Given the description of an element on the screen output the (x, y) to click on. 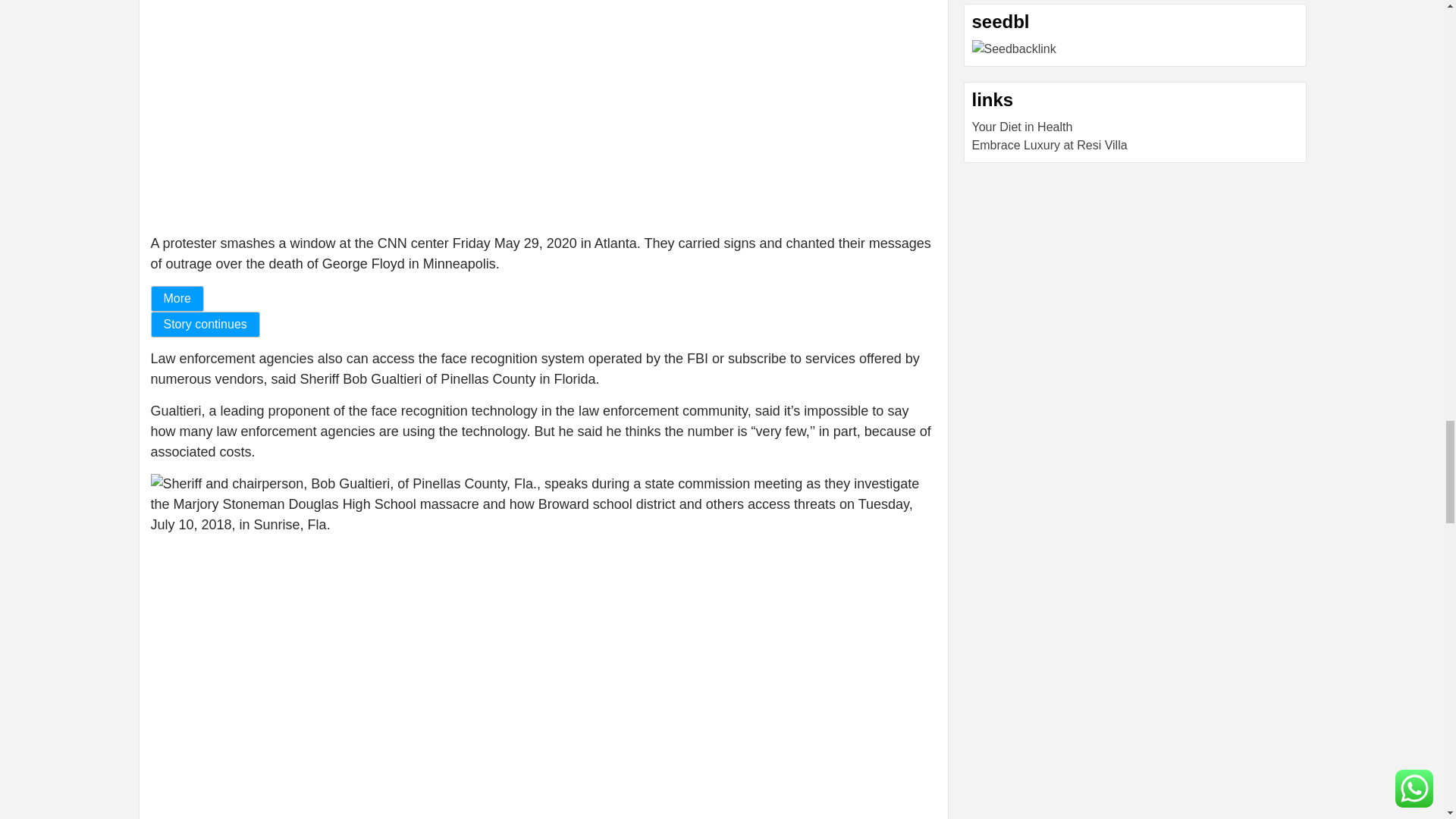
Seedbacklink (1014, 49)
More (176, 298)
Story continues (204, 323)
